Given the description of an element on the screen output the (x, y) to click on. 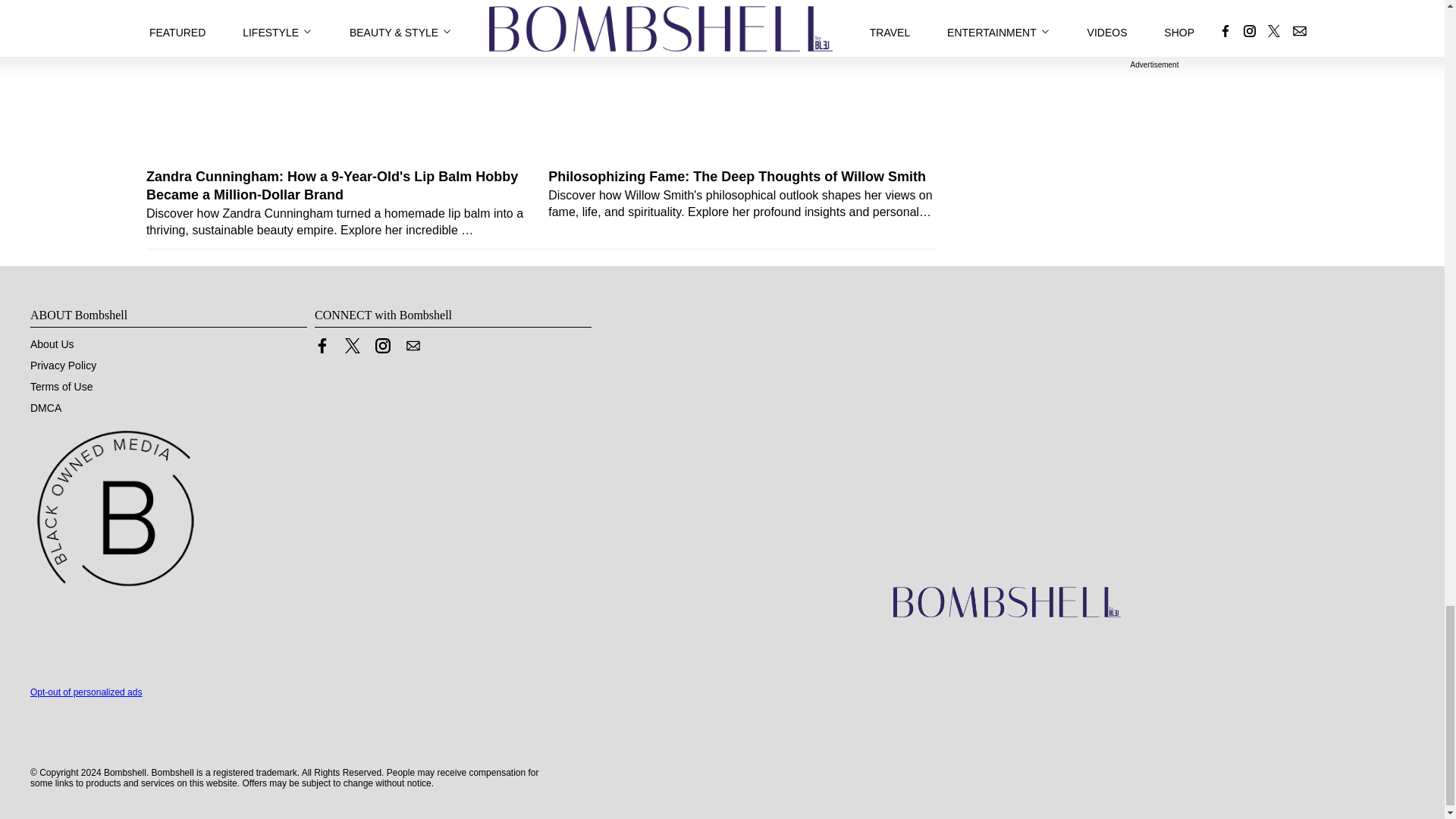
Contact us by Email (413, 345)
Link to Facebook (322, 345)
Link to Instagram (382, 345)
Link to X (352, 345)
